Given the description of an element on the screen output the (x, y) to click on. 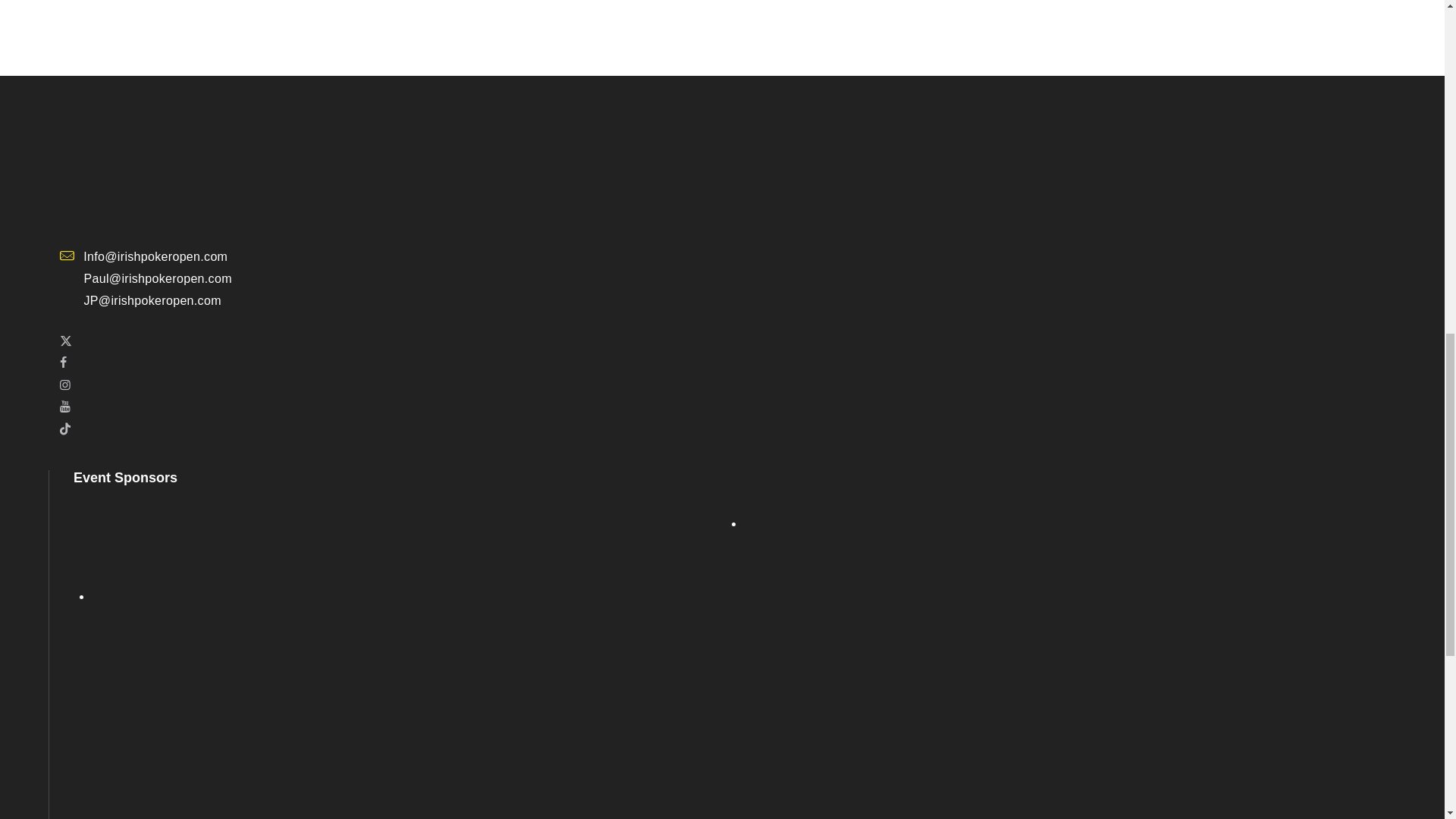
Screen Shot 2023-01-12 at 09.14.15 (135, 454)
cropped-Irish-Open-Logo.jpg (172, 166)
PSLogoTransparent (408, 662)
